Given the description of an element on the screen output the (x, y) to click on. 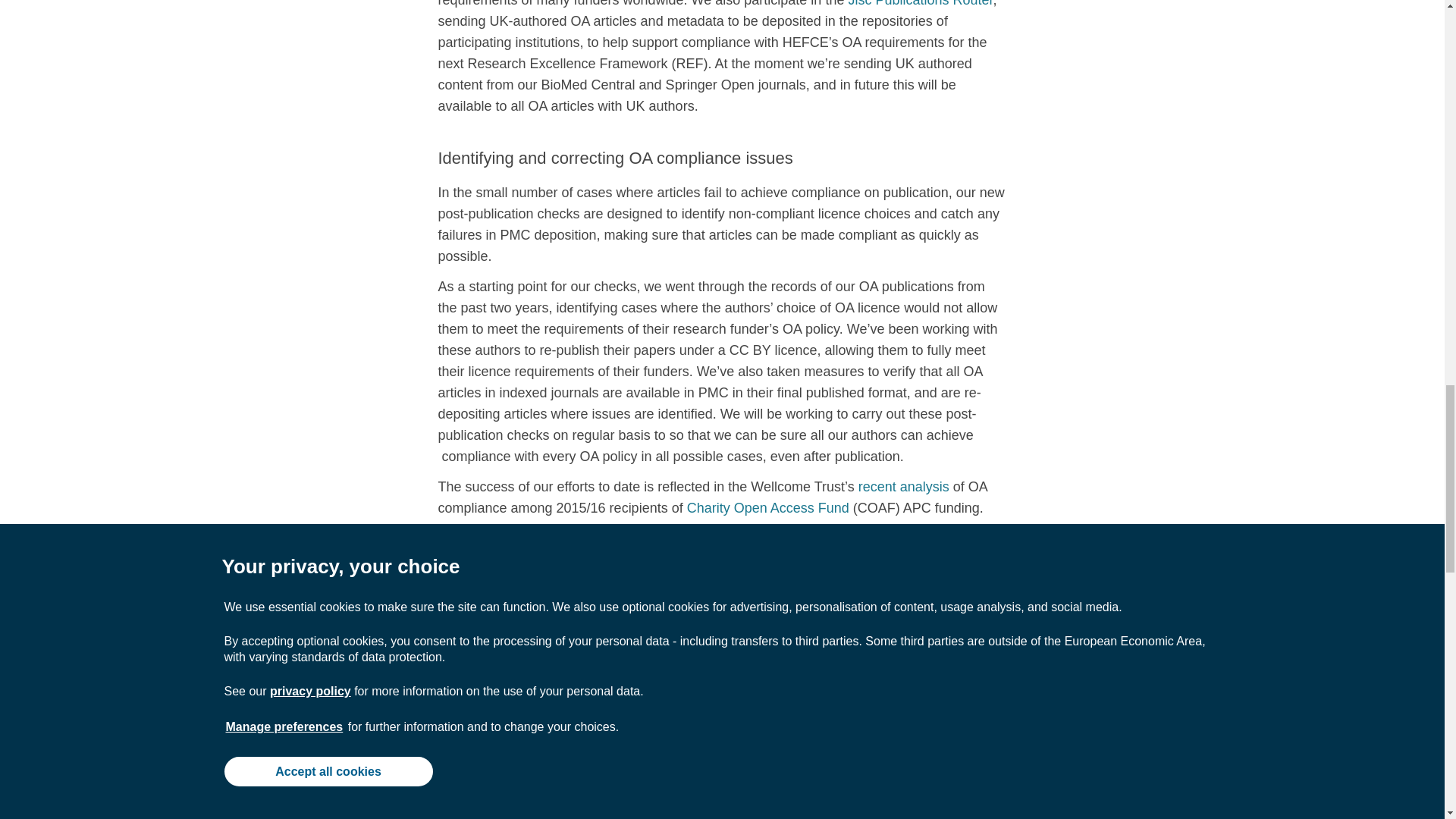
Charity Open Access Fund (767, 507)
recent analysis (904, 486)
Jisc Publications Router (919, 3)
publisher requirements (831, 622)
